Given the description of an element on the screen output the (x, y) to click on. 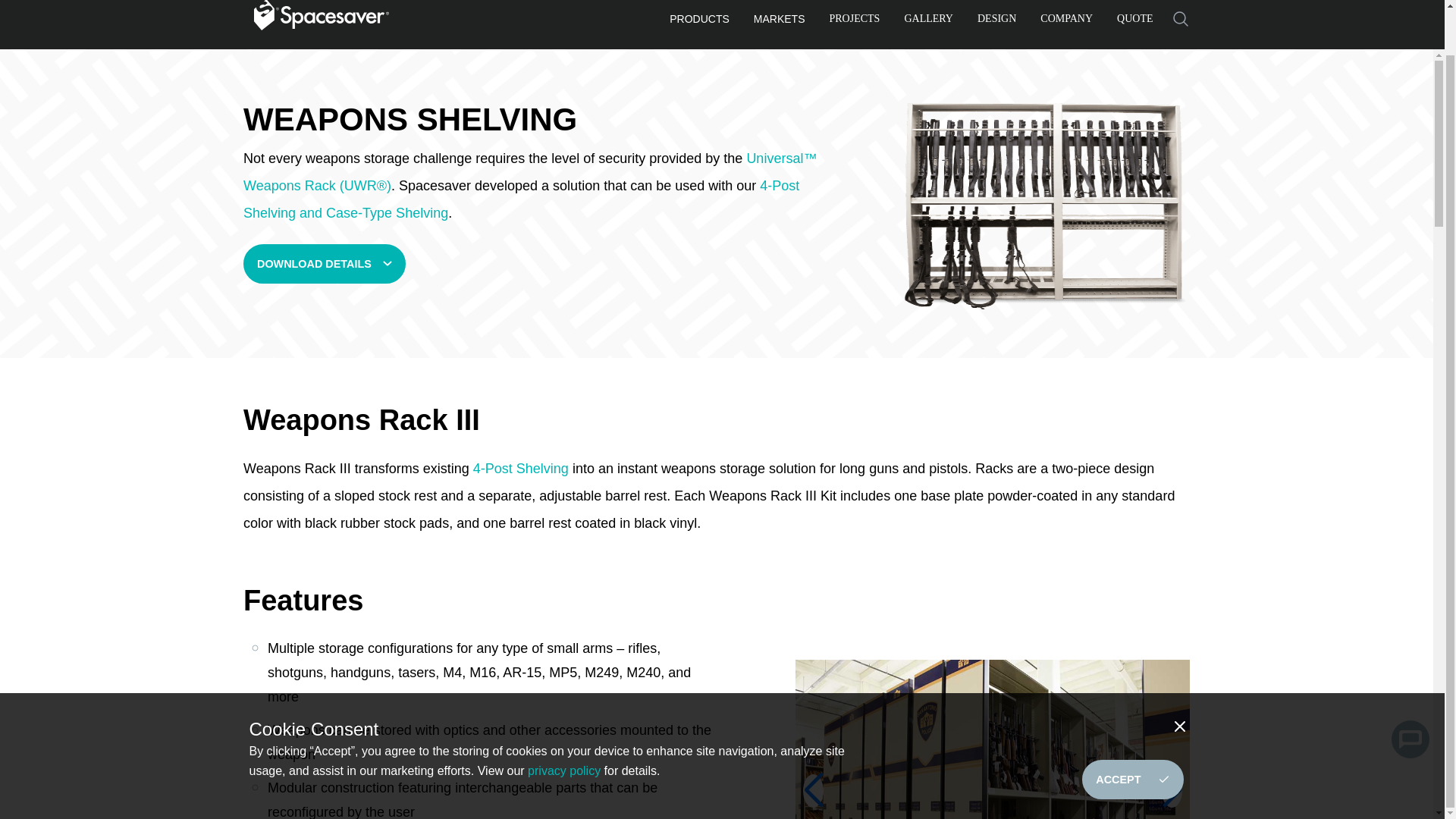
PROJECTS (854, 21)
GALLERY (928, 21)
Search (1179, 19)
QUOTE (1134, 21)
MARKETS (779, 22)
4-Post Shelving and Case-Type Shelving (521, 199)
PRODUCTS (699, 22)
DOWNLOAD DETAILS (324, 263)
4-Post Shelving (521, 468)
